Given the description of an element on the screen output the (x, y) to click on. 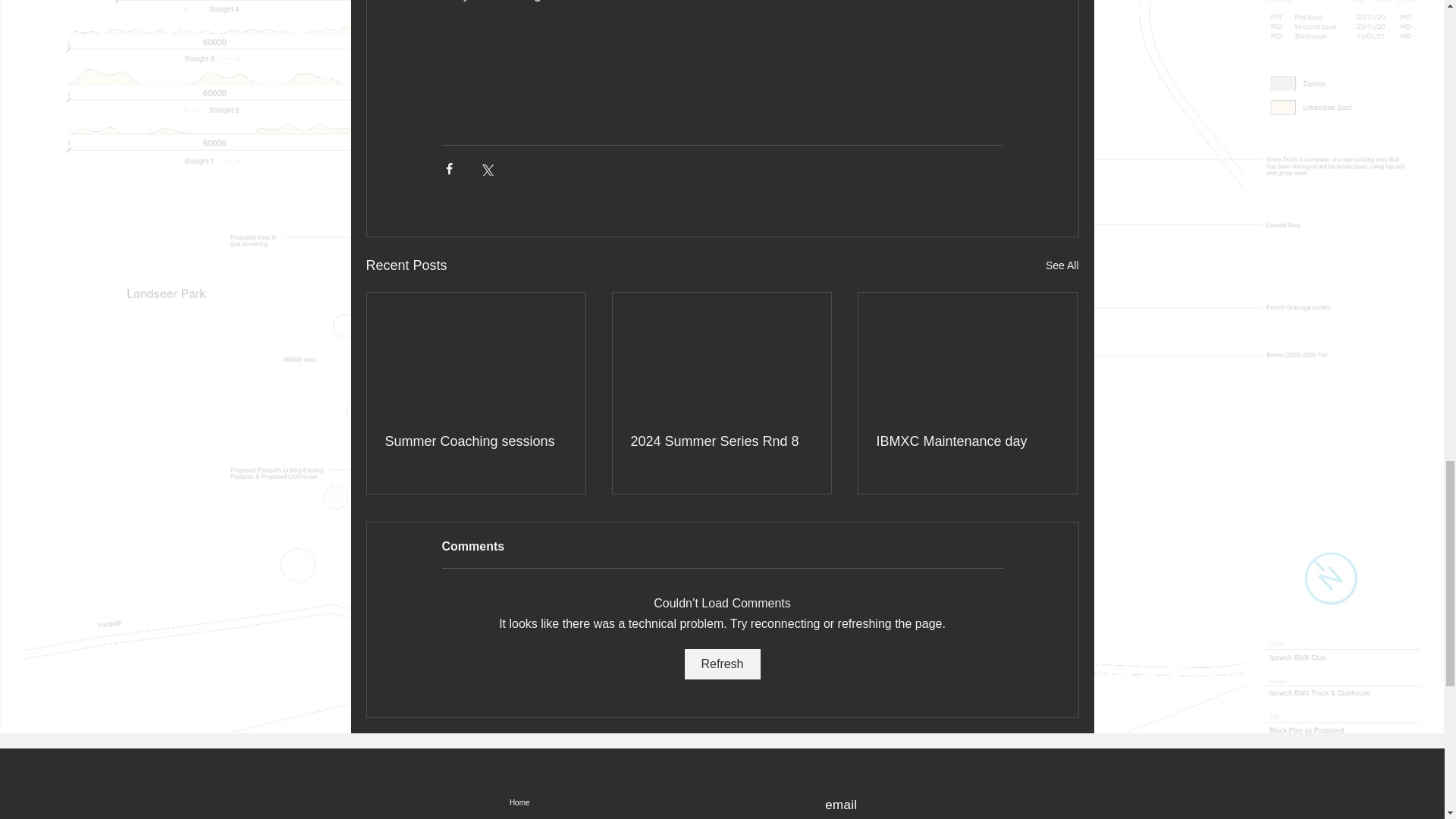
Refresh (722, 664)
Home (574, 802)
Summer Coaching sessions (476, 441)
IBMXC Maintenance day (967, 441)
About Us (574, 816)
2024 Summer Series Rnd 8 (721, 441)
See All (1061, 265)
